Given the description of an element on the screen output the (x, y) to click on. 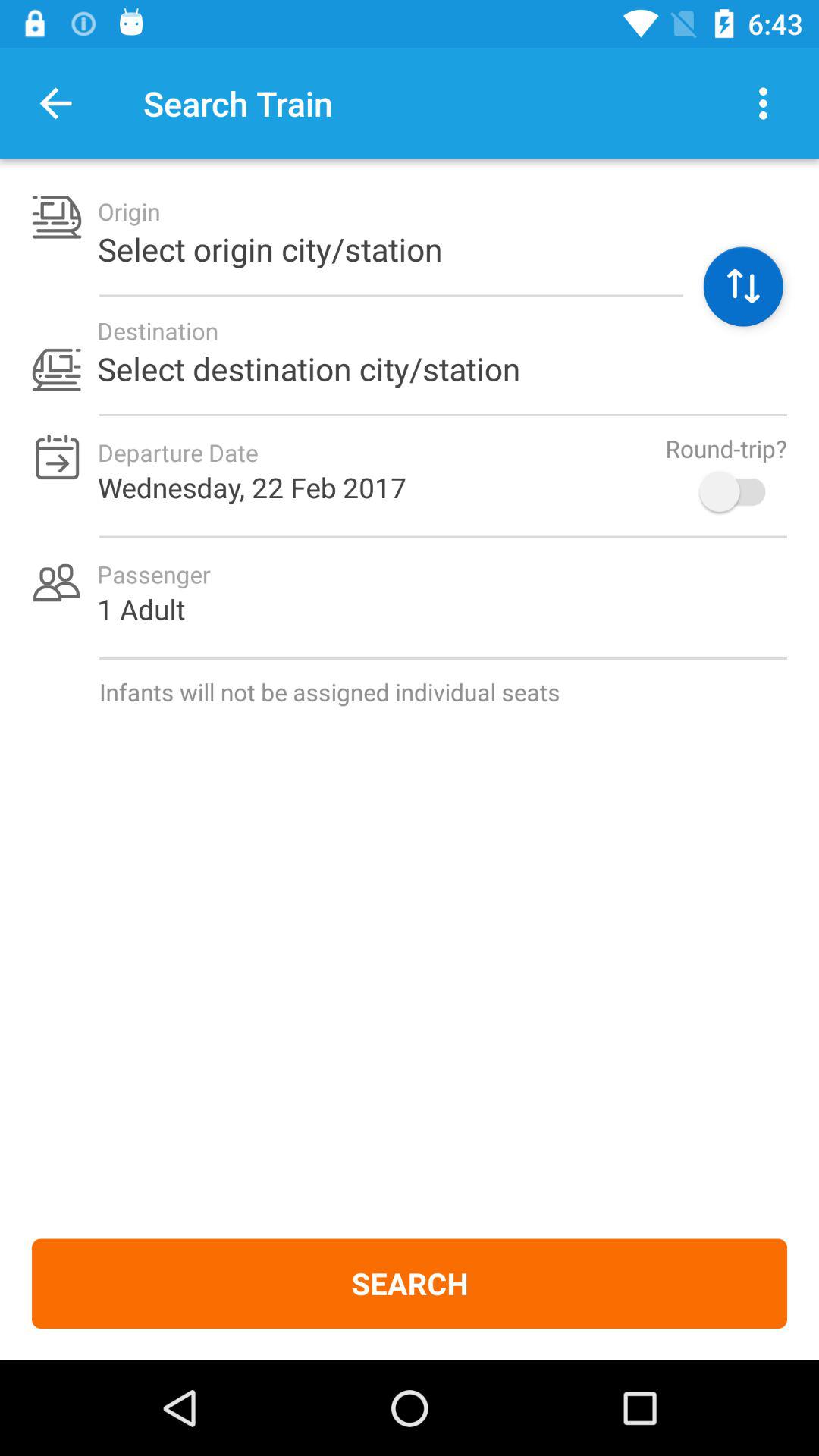
select the orgin city station (743, 286)
